Given the description of an element on the screen output the (x, y) to click on. 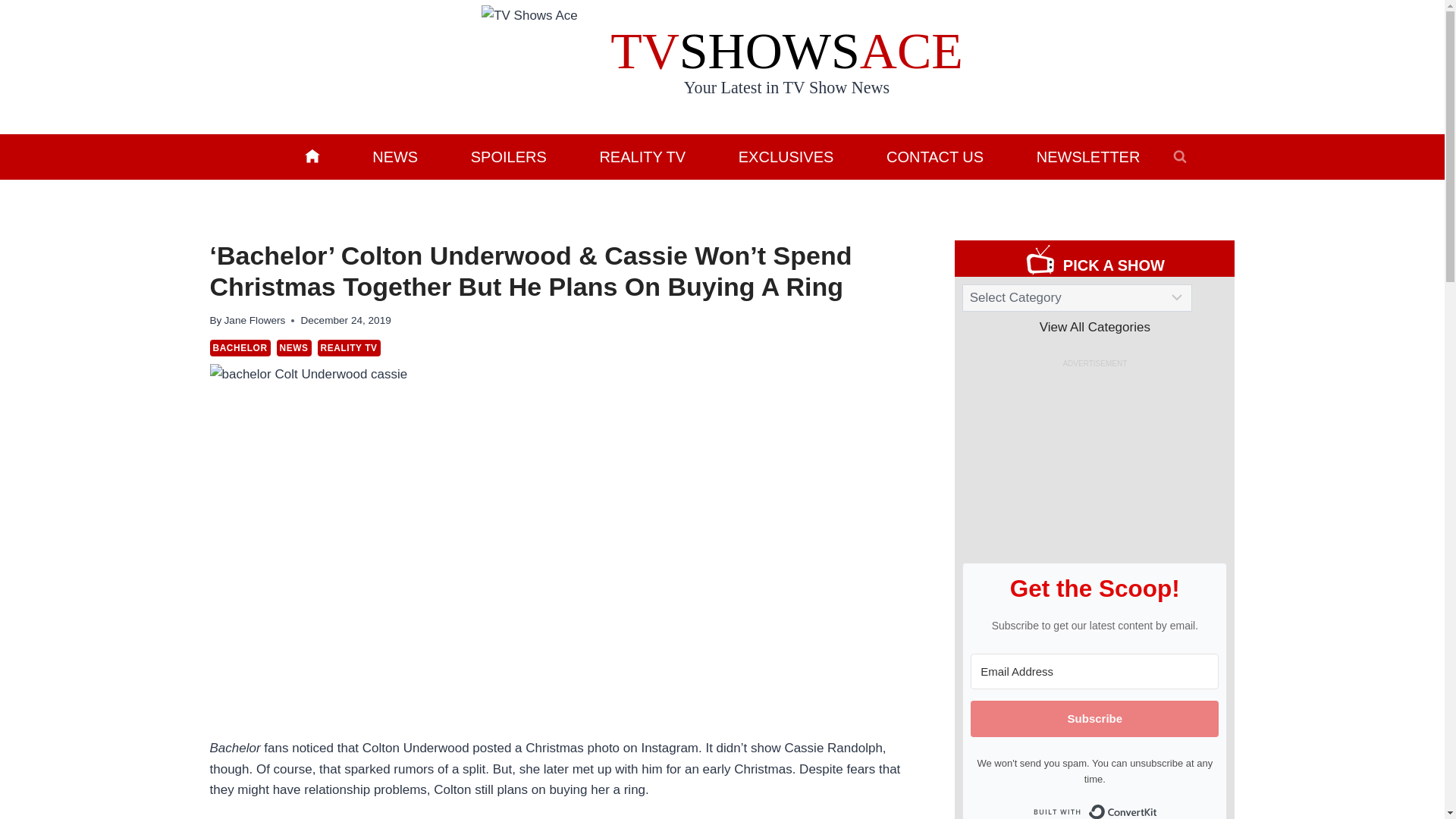
NEWS (293, 347)
REALITY TV (642, 156)
Jane Flowers (254, 319)
BACHELOR (239, 347)
REALITY TV (348, 347)
NEWS (395, 156)
NEWSLETTER (1088, 156)
CONTACT US (935, 156)
EXCLUSIVES (785, 156)
SPOILERS (508, 156)
